Given the description of an element on the screen output the (x, y) to click on. 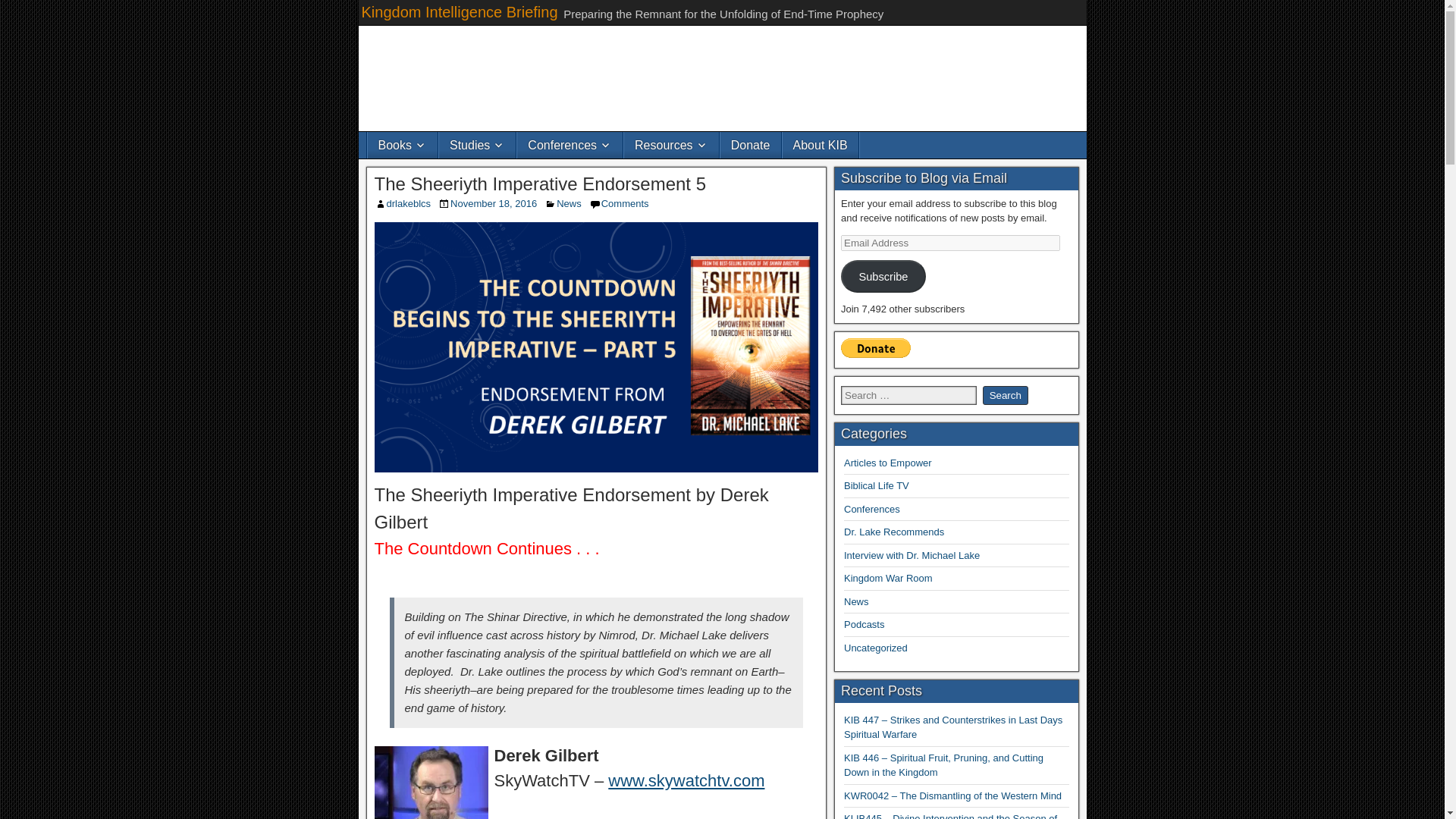
www.skywatchtv.com (686, 780)
Search (1004, 394)
News (568, 203)
Comments (625, 203)
PayPal - The safer, easier way to pay online! (876, 347)
The Sheeriyth Imperative Endorsement 5 (540, 183)
Donate (750, 144)
About KIB (821, 144)
Search (1004, 394)
drlakeblcs (408, 203)
Conferences (569, 144)
Studies (477, 144)
November 18, 2016 (493, 203)
Resources (670, 144)
Kingdom Intelligence Briefing (459, 12)
